Given the description of an element on the screen output the (x, y) to click on. 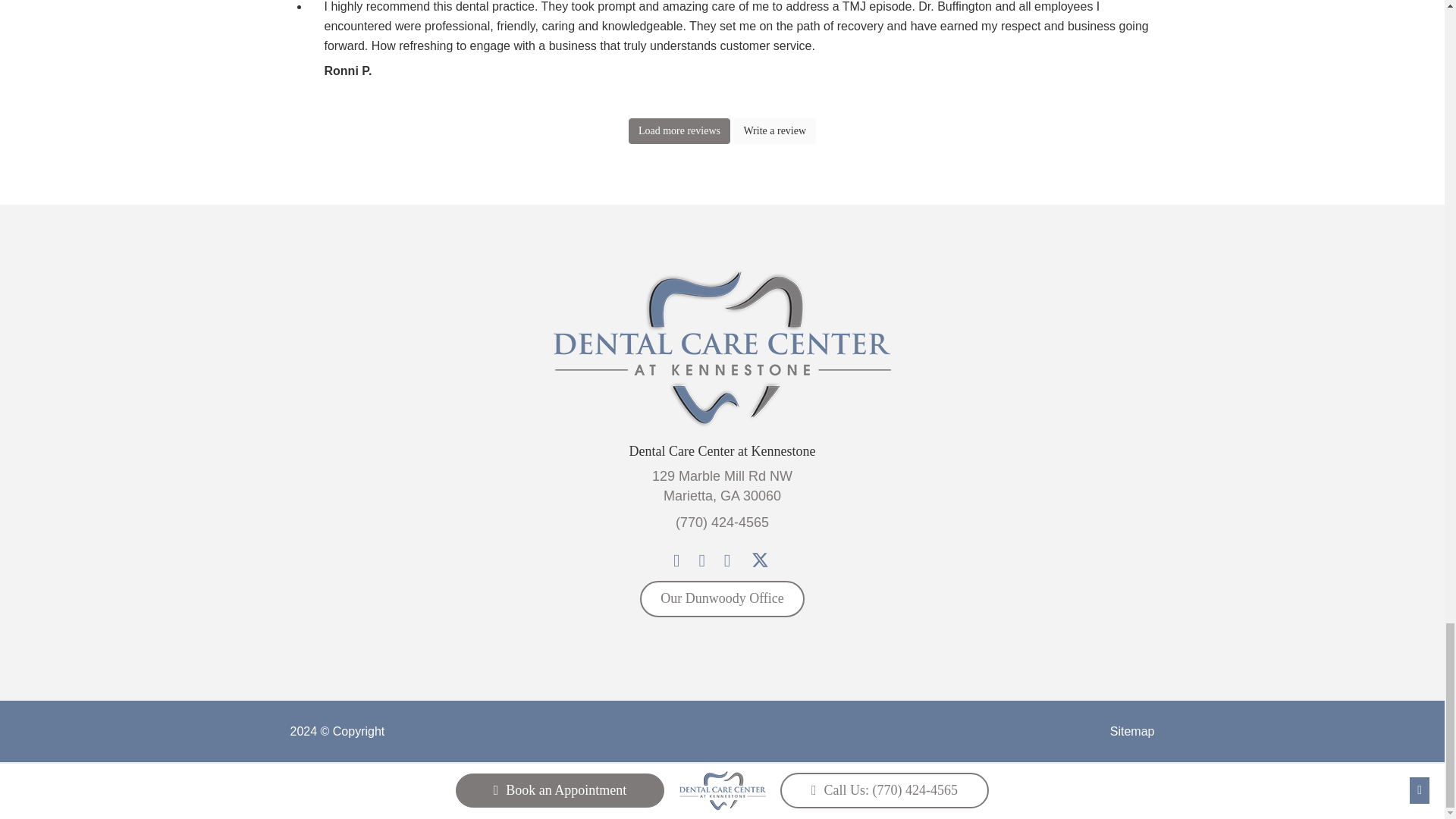
Get directions (722, 485)
